Given the description of an element on the screen output the (x, y) to click on. 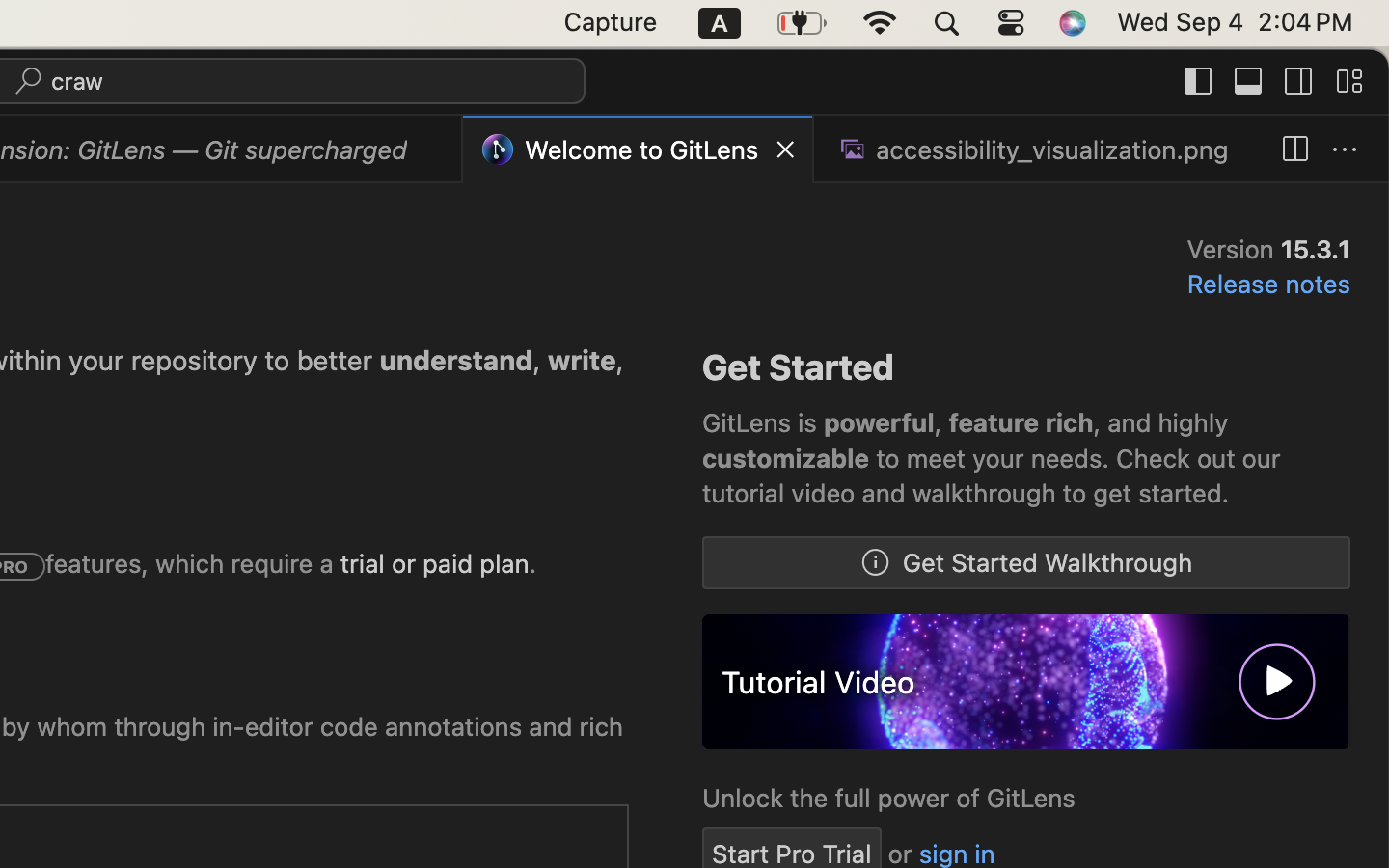
Unlock the full power of GitLens Element type: AXStaticText (889, 797)
0 accessibility_visualization.png   Element type: AXRadioButton (1039, 149)
GitLens is Element type: AXStaticText (763, 422)
Get Started Walkthrough Element type: AXStaticText (1048, 561)
customizable Element type: AXStaticText (786, 457)
